Given the description of an element on the screen output the (x, y) to click on. 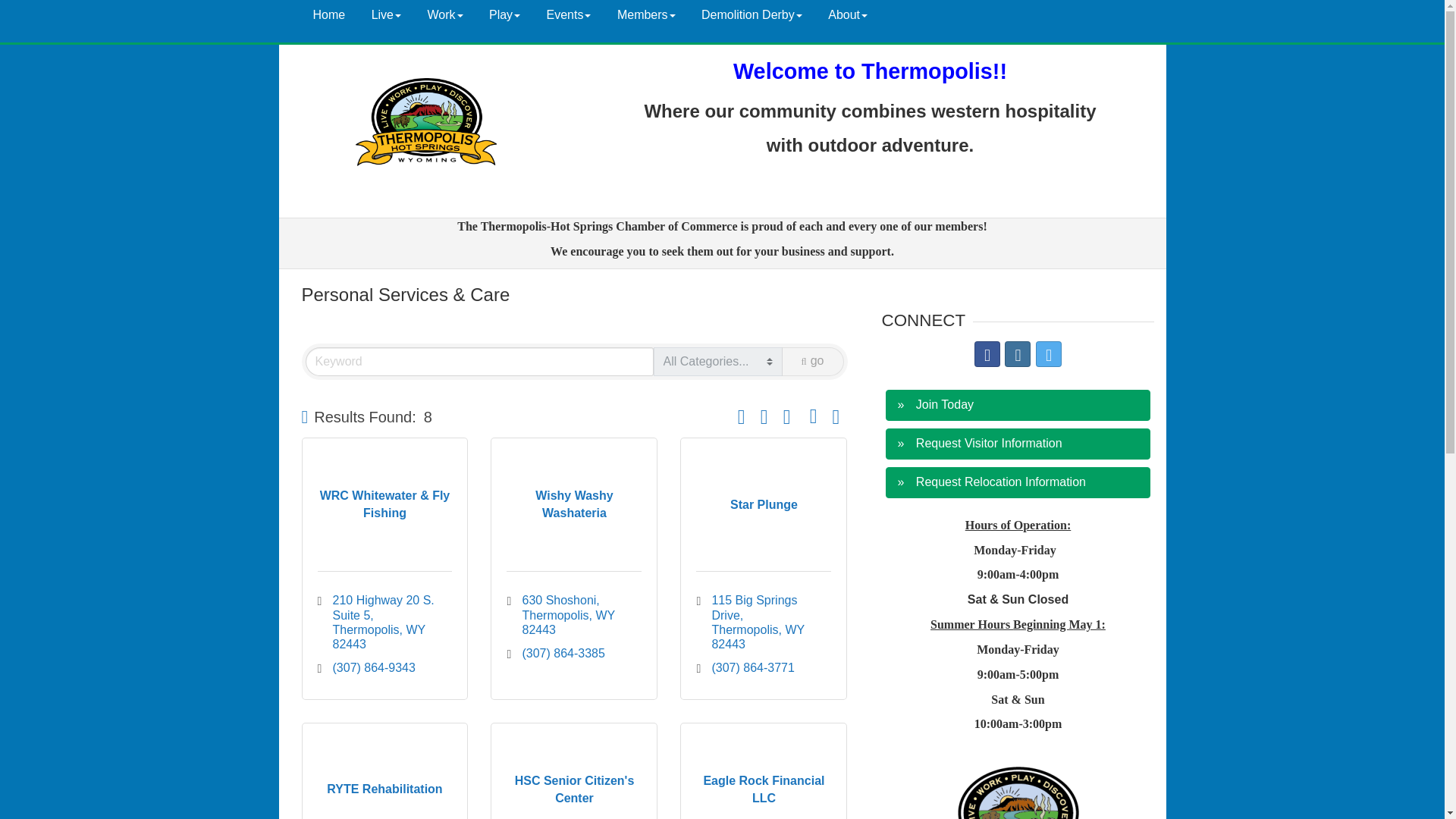
go (812, 361)
Play (504, 15)
Demolition Derby (751, 15)
Icon Link (987, 353)
Back to Search (304, 416)
Events (568, 15)
Print (764, 417)
About (847, 15)
Live (385, 15)
View on Map (786, 417)
Icon Link (1048, 353)
List View (813, 417)
Icon Link (1017, 353)
Contact These Businesses (836, 416)
Sort by Rank (741, 417)
